Given the description of an element on the screen output the (x, y) to click on. 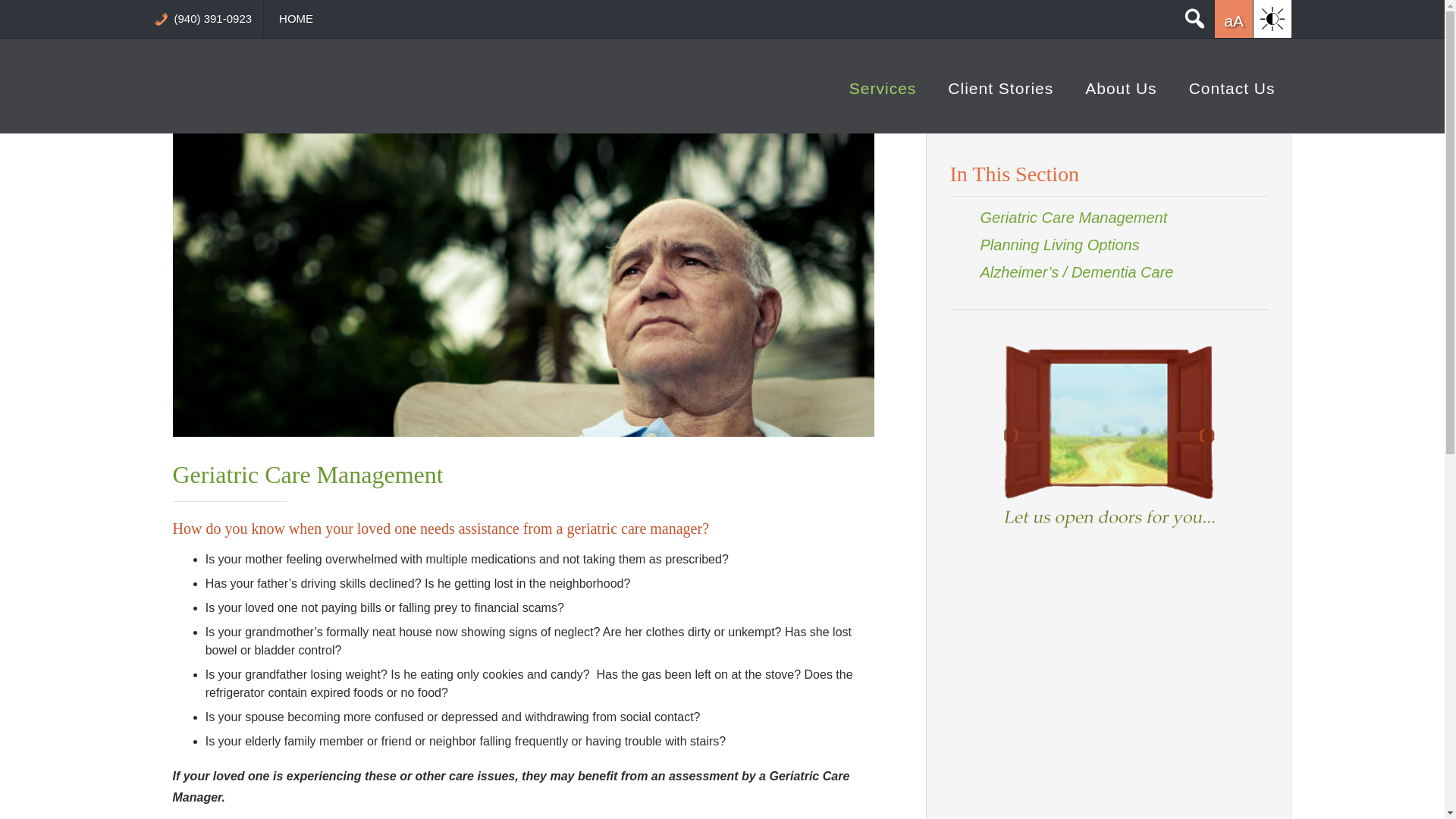
Search (1192, 41)
HOME (301, 15)
Services (882, 95)
Contact Us (1232, 95)
Client Stories (999, 95)
About Us (1120, 95)
High Contrast: White Background with Black Text (1271, 18)
Planning Living Options (1058, 244)
Geriatric Care Management (1073, 217)
Search (1192, 41)
